Given the description of an element on the screen output the (x, y) to click on. 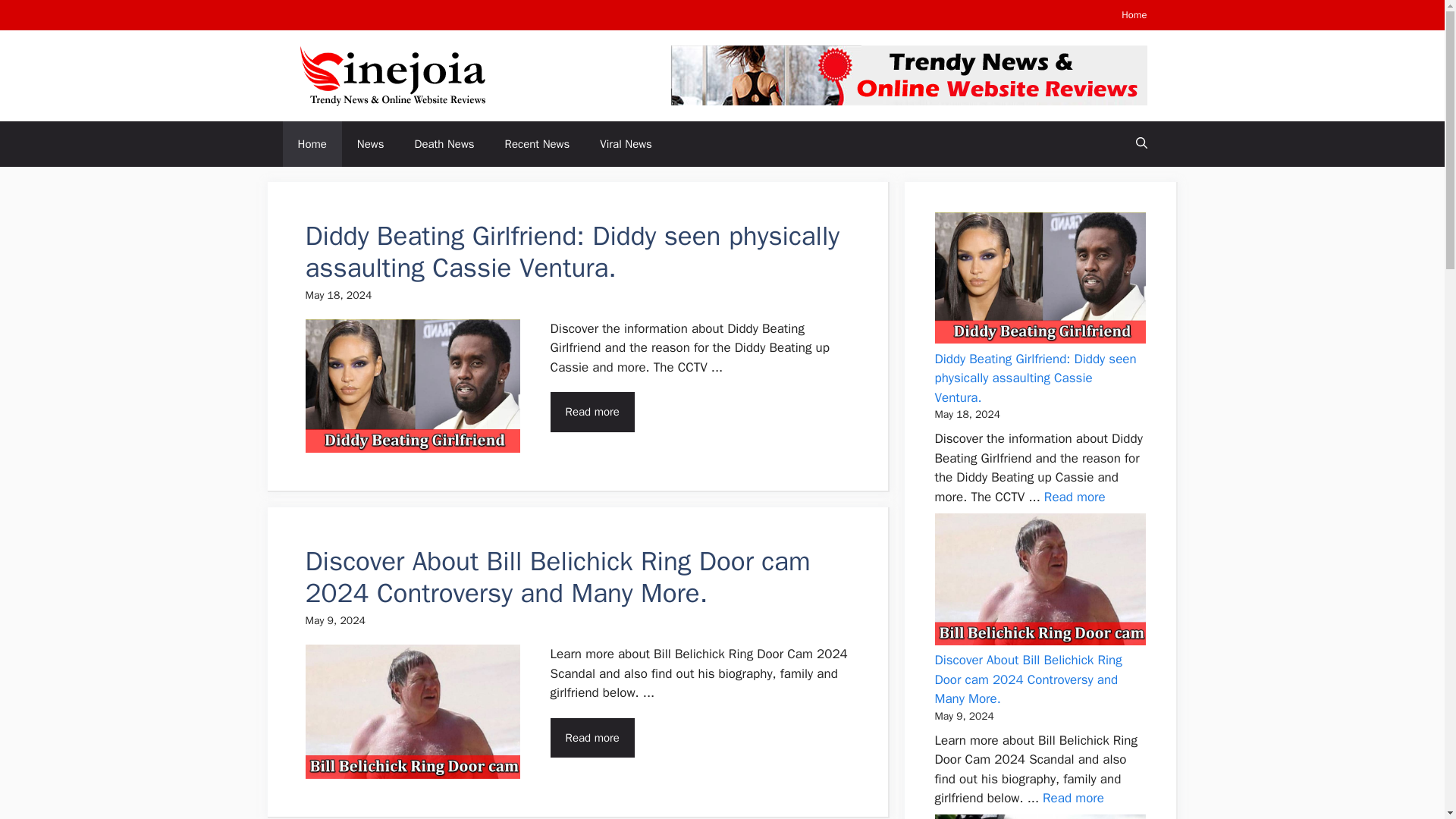
Read more (1072, 797)
Home (1134, 14)
Viral News (625, 144)
Death News (443, 144)
Recent News (537, 144)
